Given the description of an element on the screen output the (x, y) to click on. 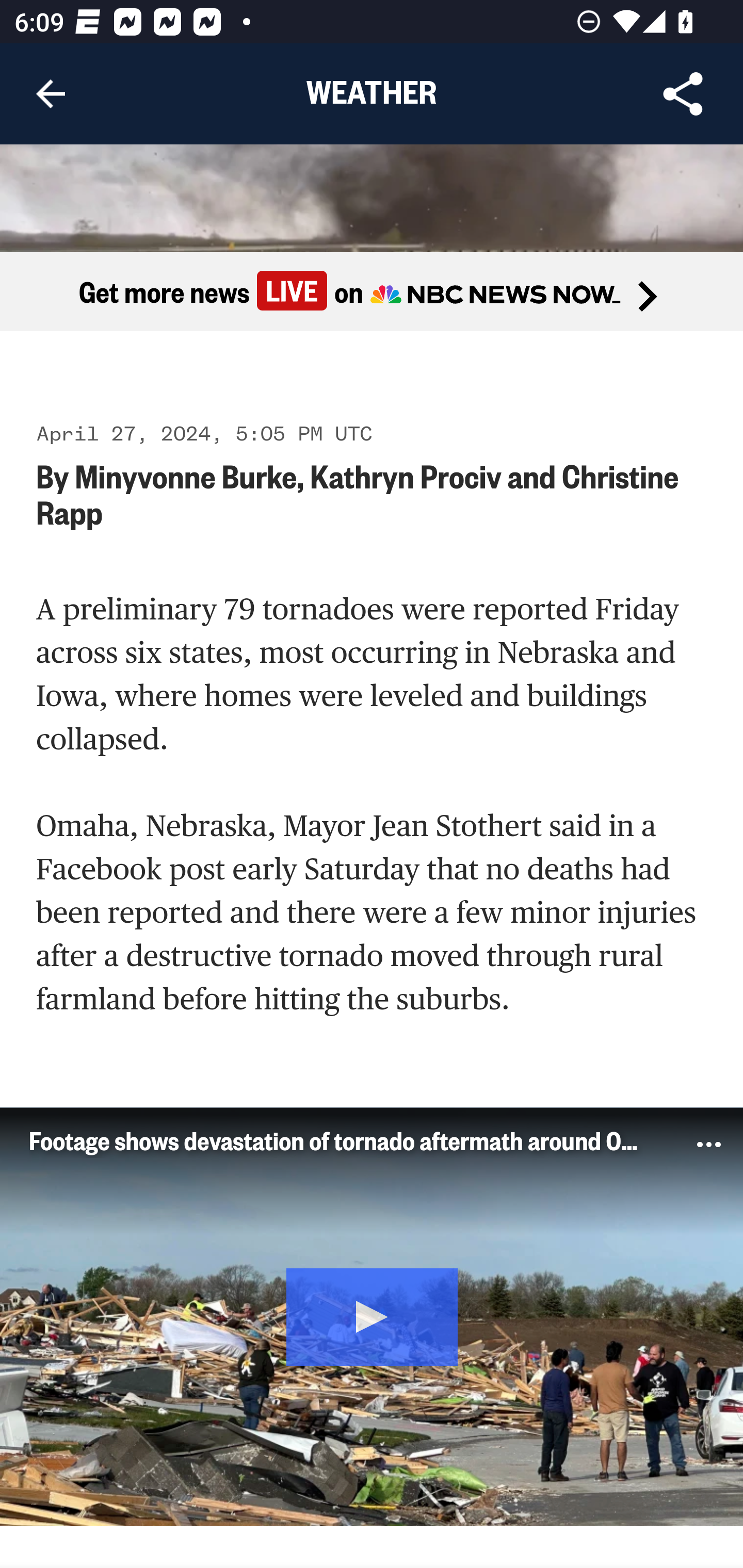
Navigate up (50, 93)
Share Article, button (683, 94)
Get more news Live on Get more news Live on (371, 292)
Minyvonne Burke (185, 477)
Kathryn Prociv (405, 477)
Video Player Unable to play media. Play   (371, 1318)
Play (372, 1316)
